Given the description of an element on the screen output the (x, y) to click on. 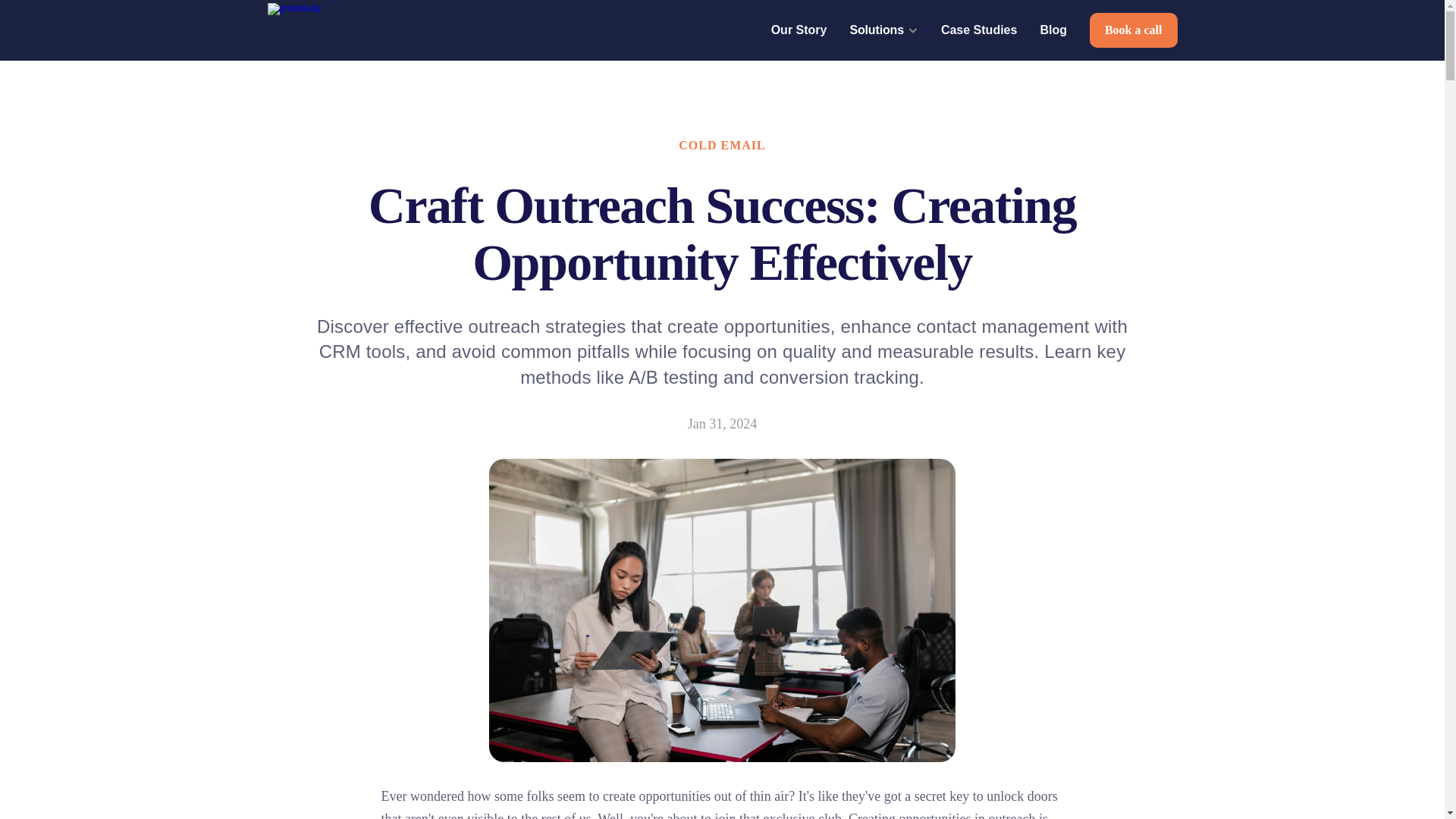
Our Story (799, 29)
Case Studies (978, 29)
Book a call (1133, 30)
Blog (1053, 29)
